Given the description of an element on the screen output the (x, y) to click on. 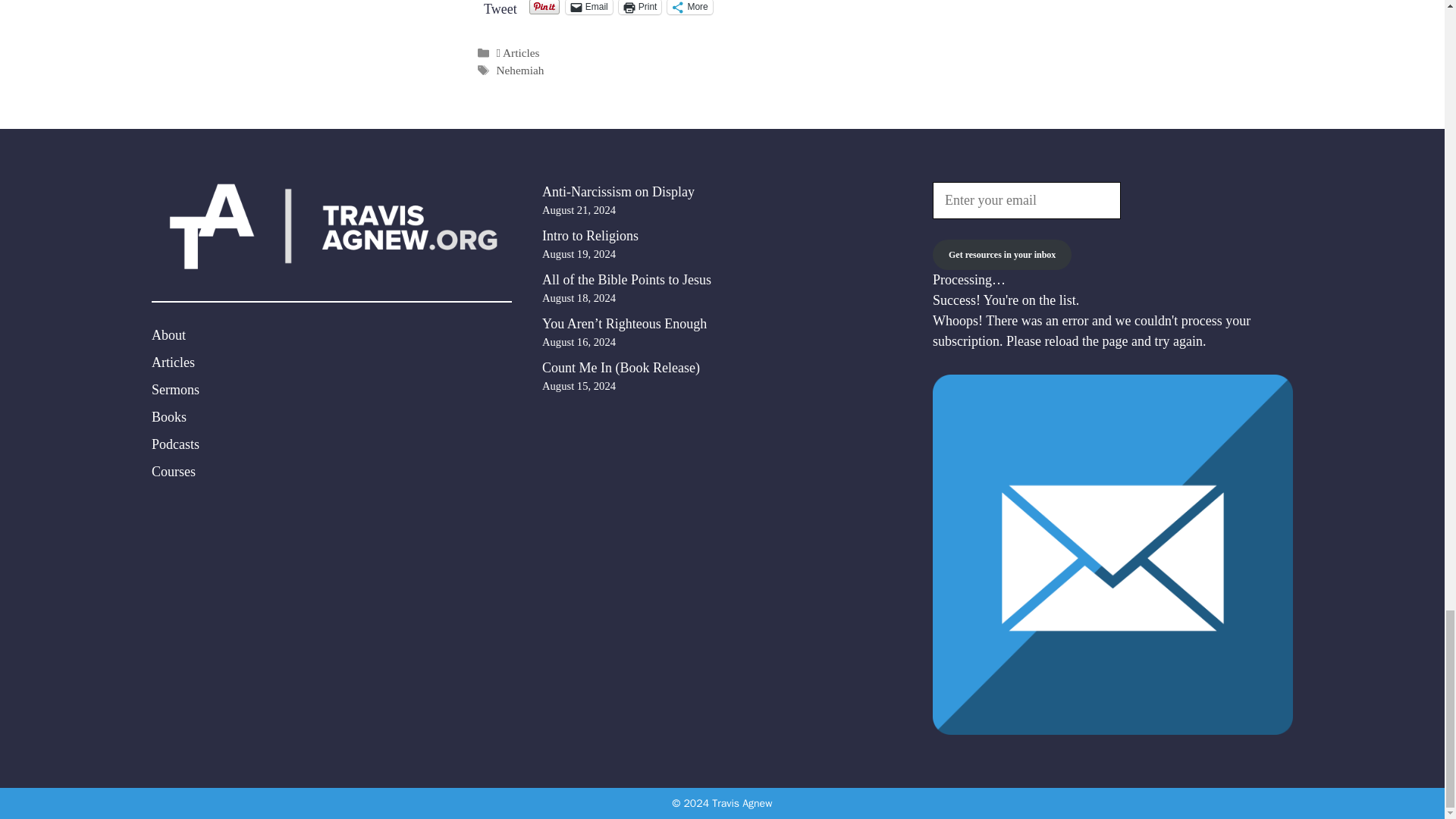
Click to print (640, 7)
Tweet (499, 6)
Email (589, 7)
Print (640, 7)
Click to email a link to a friend (589, 7)
More (688, 7)
